Given the description of an element on the screen output the (x, y) to click on. 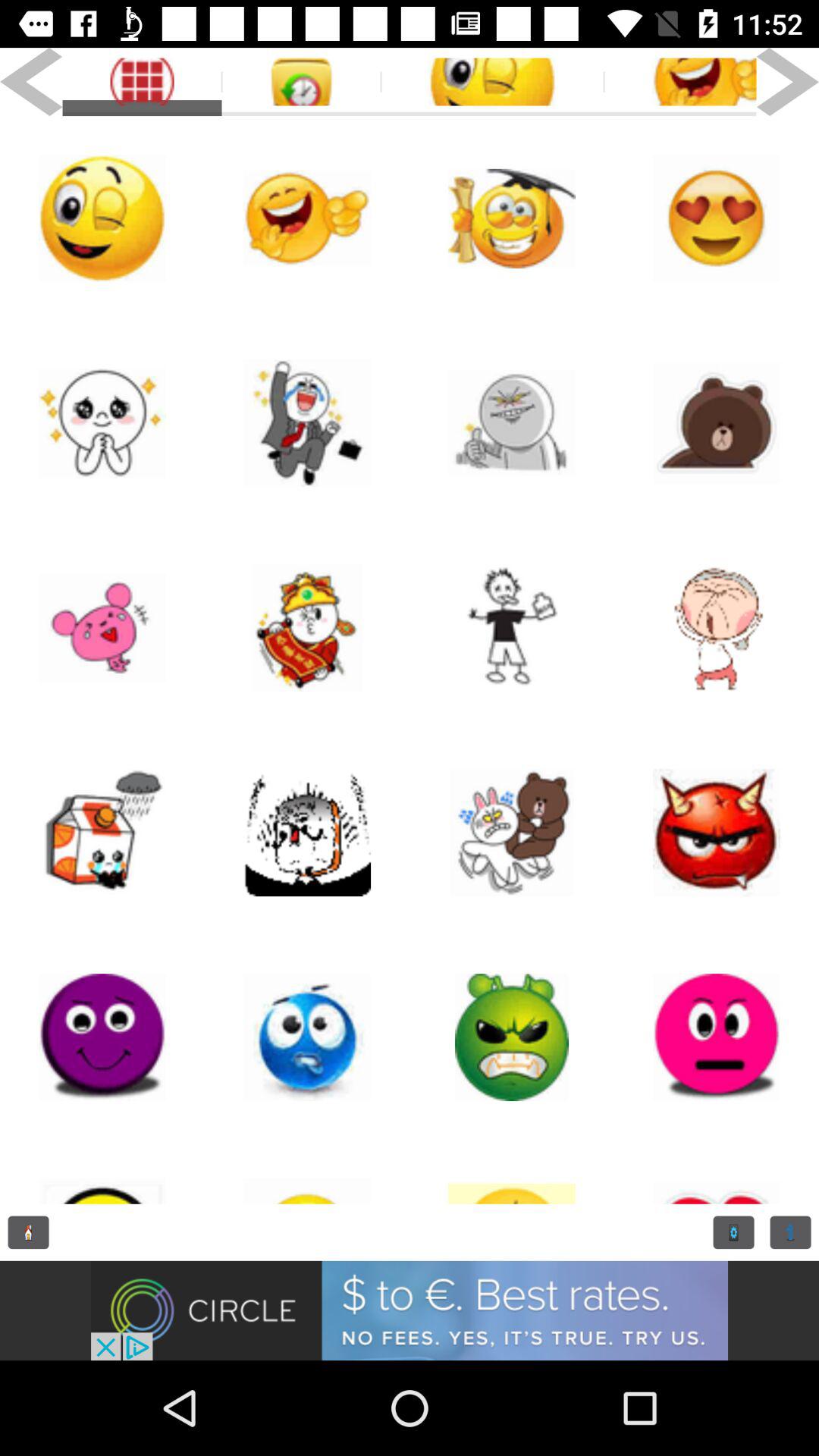
tag (492, 81)
